Given the description of an element on the screen output the (x, y) to click on. 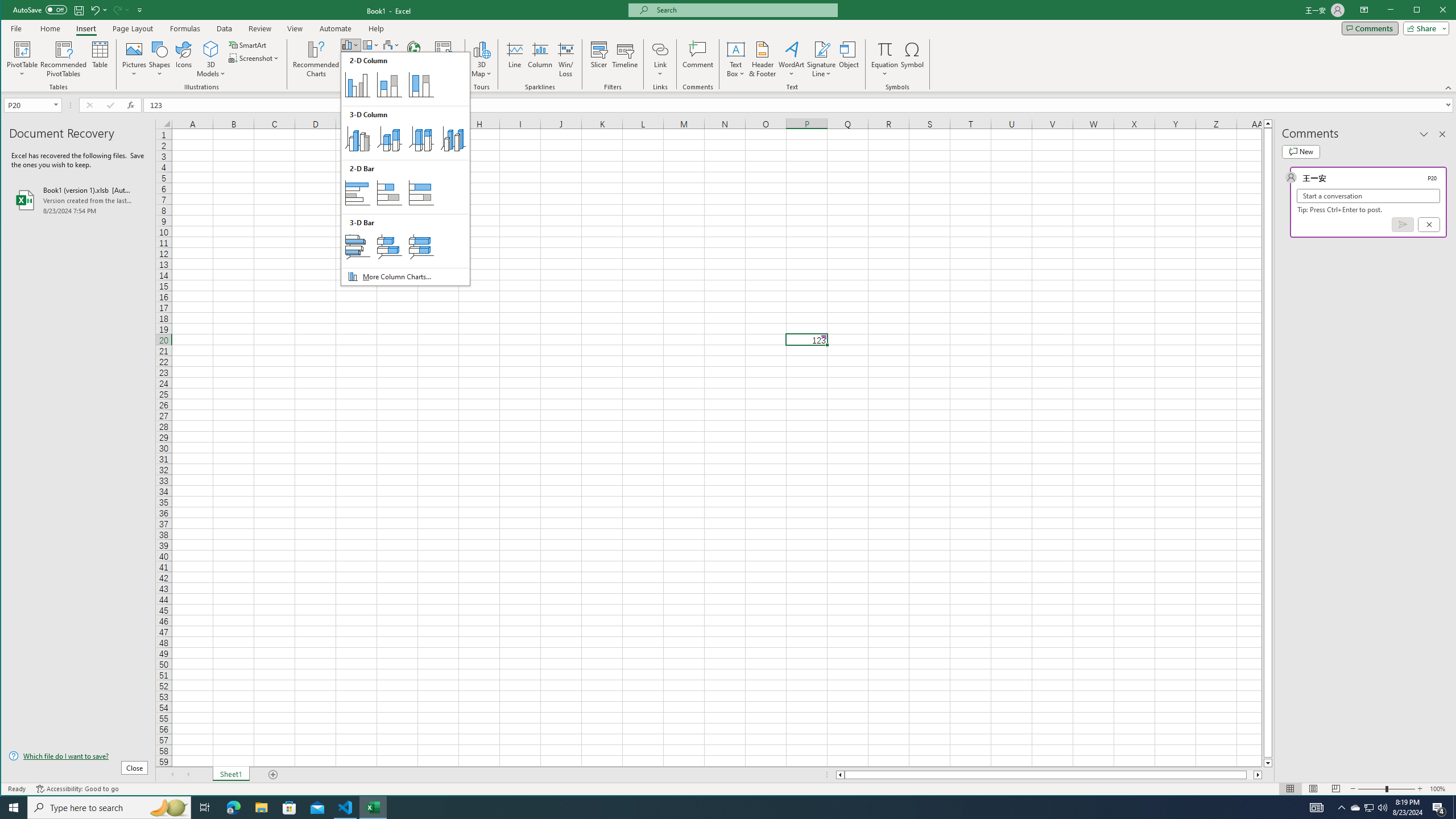
Close (1445, 11)
Redo (120, 9)
Equation (884, 59)
File Tab (16, 27)
Customize Quick Access Toolbar (140, 9)
Start (13, 807)
Win/Loss (565, 59)
Timeline (625, 59)
Line down (1267, 763)
Equation (884, 48)
